Given the description of an element on the screen output the (x, y) to click on. 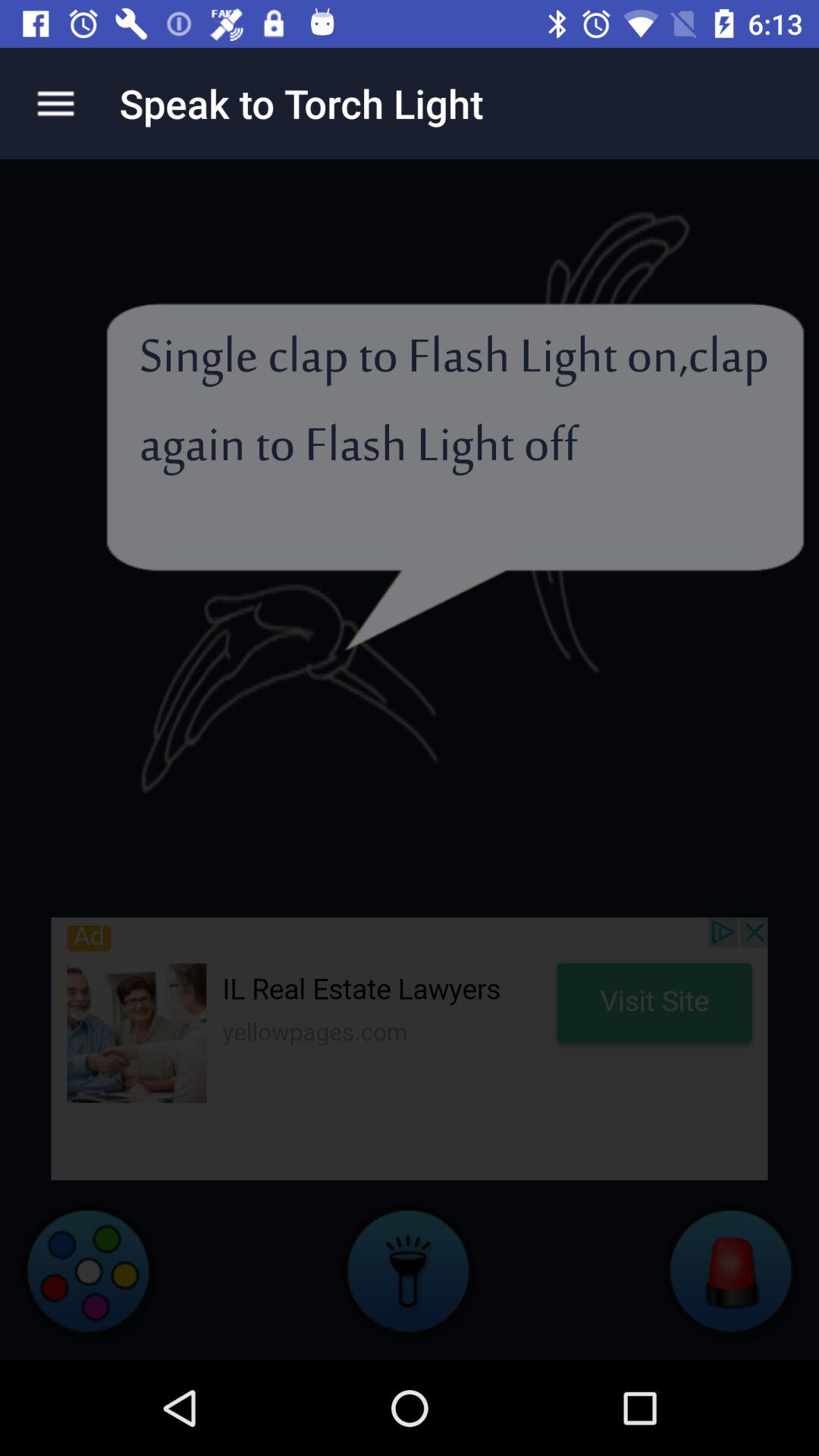
advertisement (409, 1048)
